Given the description of an element on the screen output the (x, y) to click on. 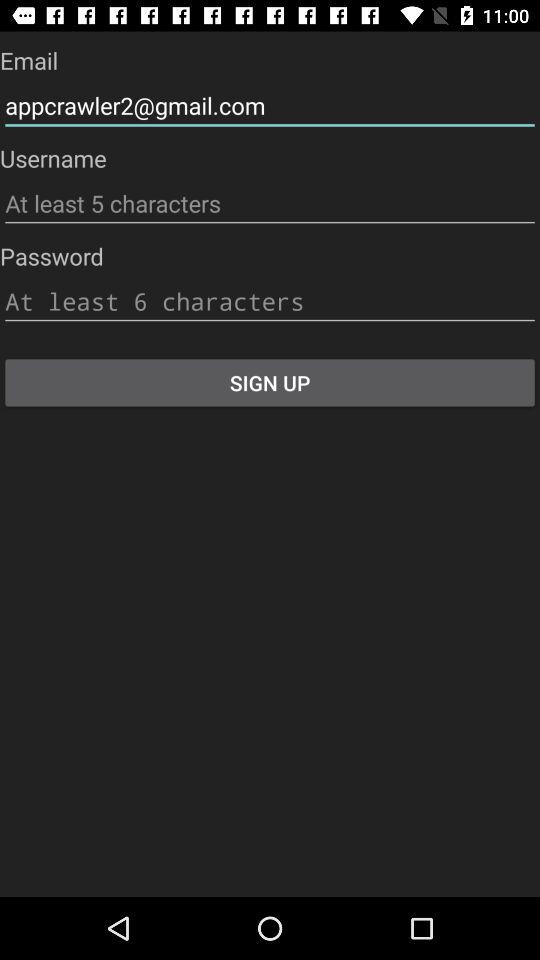
type username (270, 203)
